Given the description of an element on the screen output the (x, y) to click on. 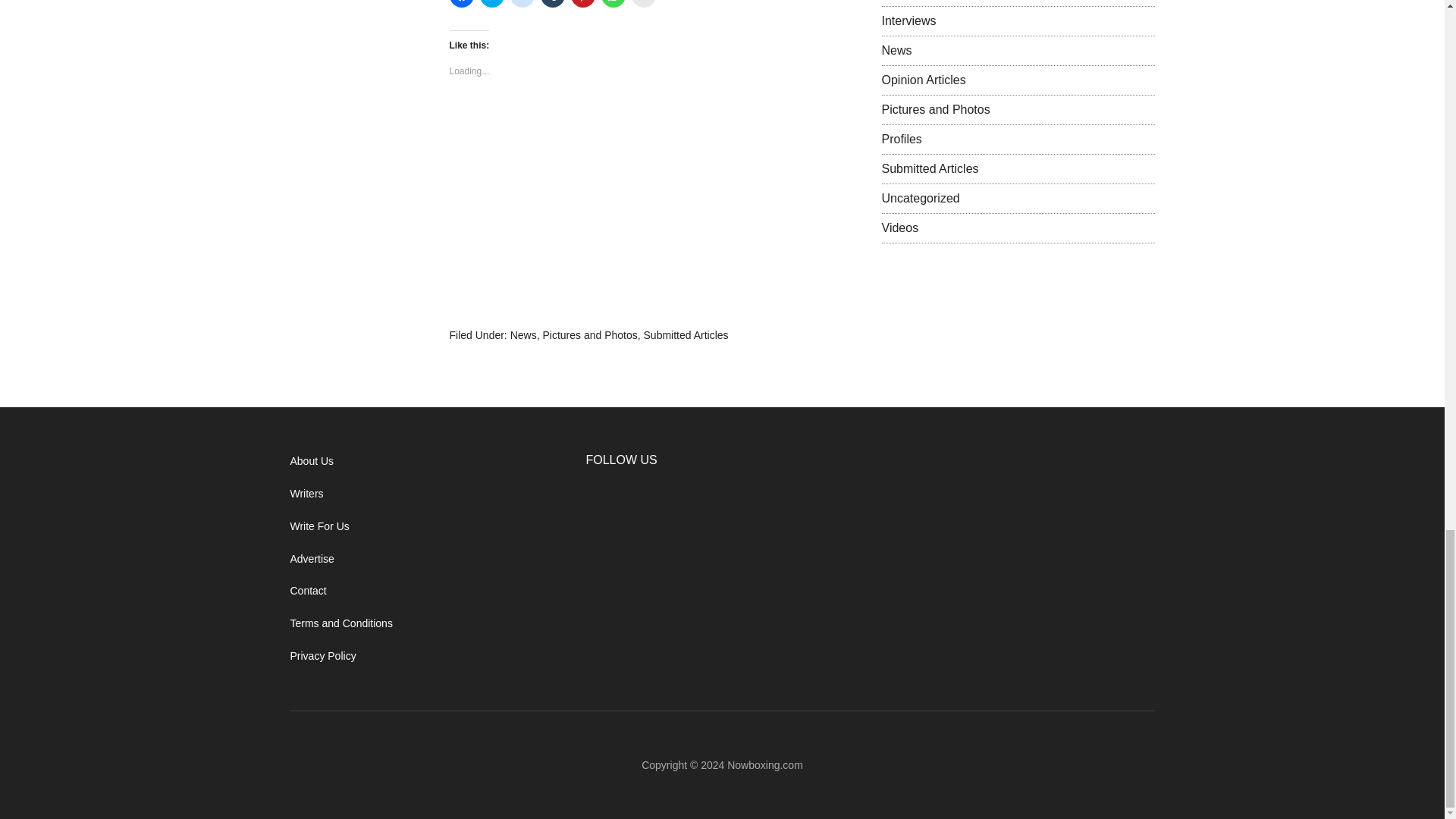
Click to share on Reddit (521, 3)
Click to share on Tumblr (552, 3)
Click to share on WhatsApp (611, 3)
Click to email a link to a friend (642, 3)
Click to share on Pinterest (582, 3)
Click to share on Facebook (460, 3)
Click to share on Twitter (491, 3)
News (524, 335)
Submitted Articles (686, 335)
Pictures and Photos (589, 335)
